Given the description of an element on the screen output the (x, y) to click on. 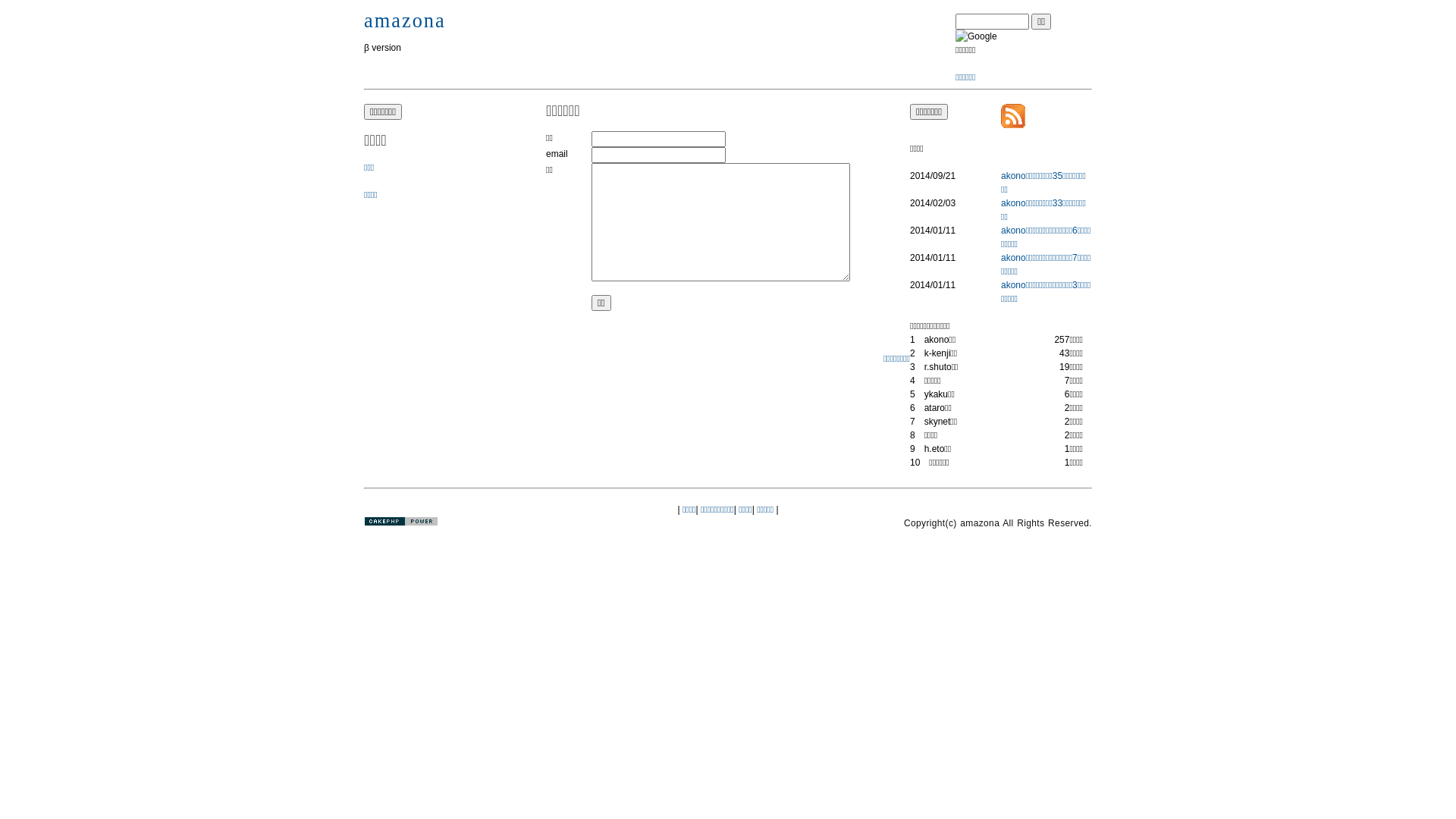
amazona Element type: text (404, 20)
